Given the description of an element on the screen output the (x, y) to click on. 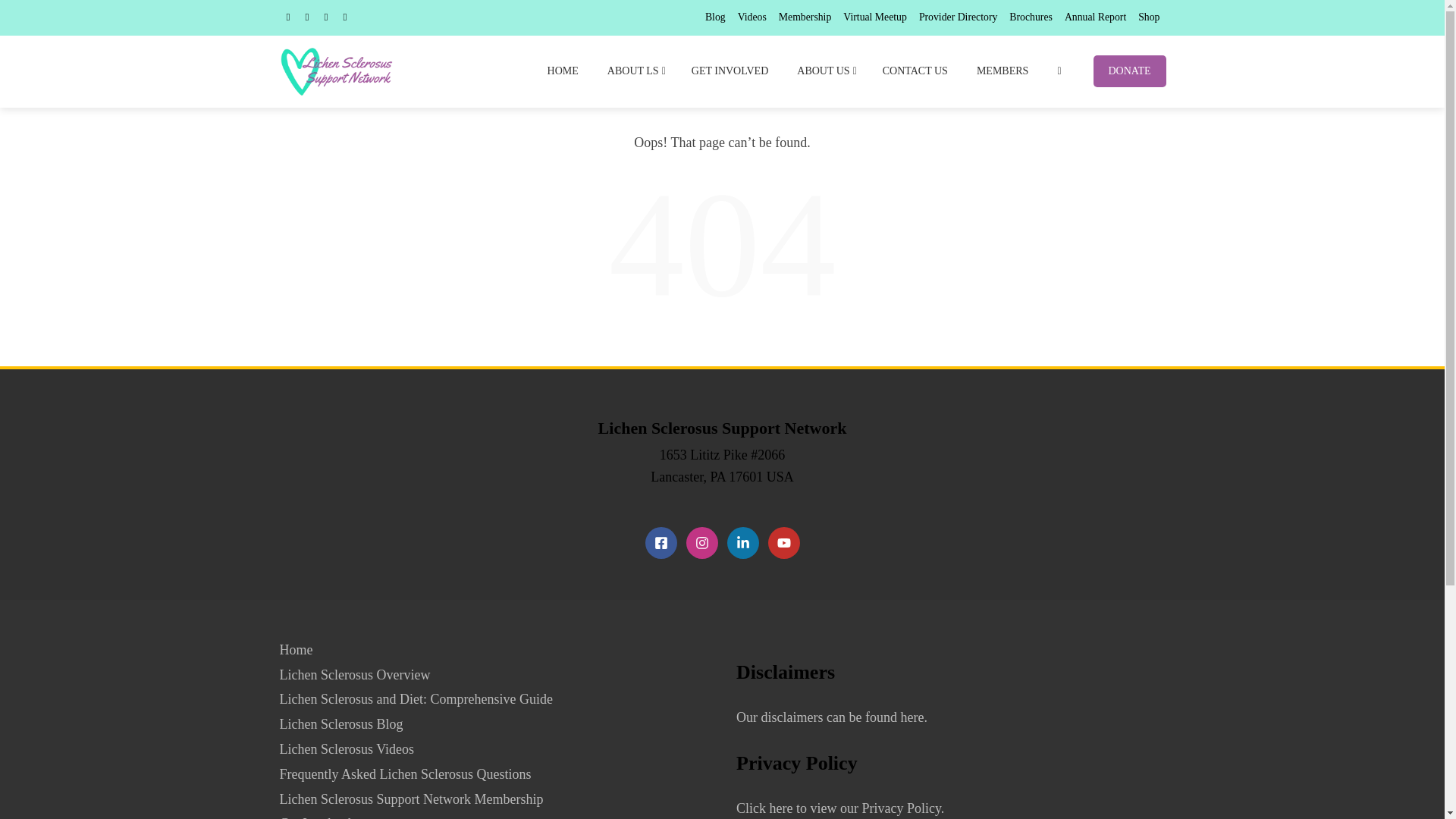
Virtual Meetup (875, 16)
Shop (1148, 16)
Provider Directory (957, 16)
LinkedIn Page (742, 542)
Brochures (1030, 16)
Annual Report (1094, 16)
Instagram Link (701, 542)
DONATE (1129, 70)
Blog (714, 16)
ABOUT LS (635, 70)
